Given the description of an element on the screen output the (x, y) to click on. 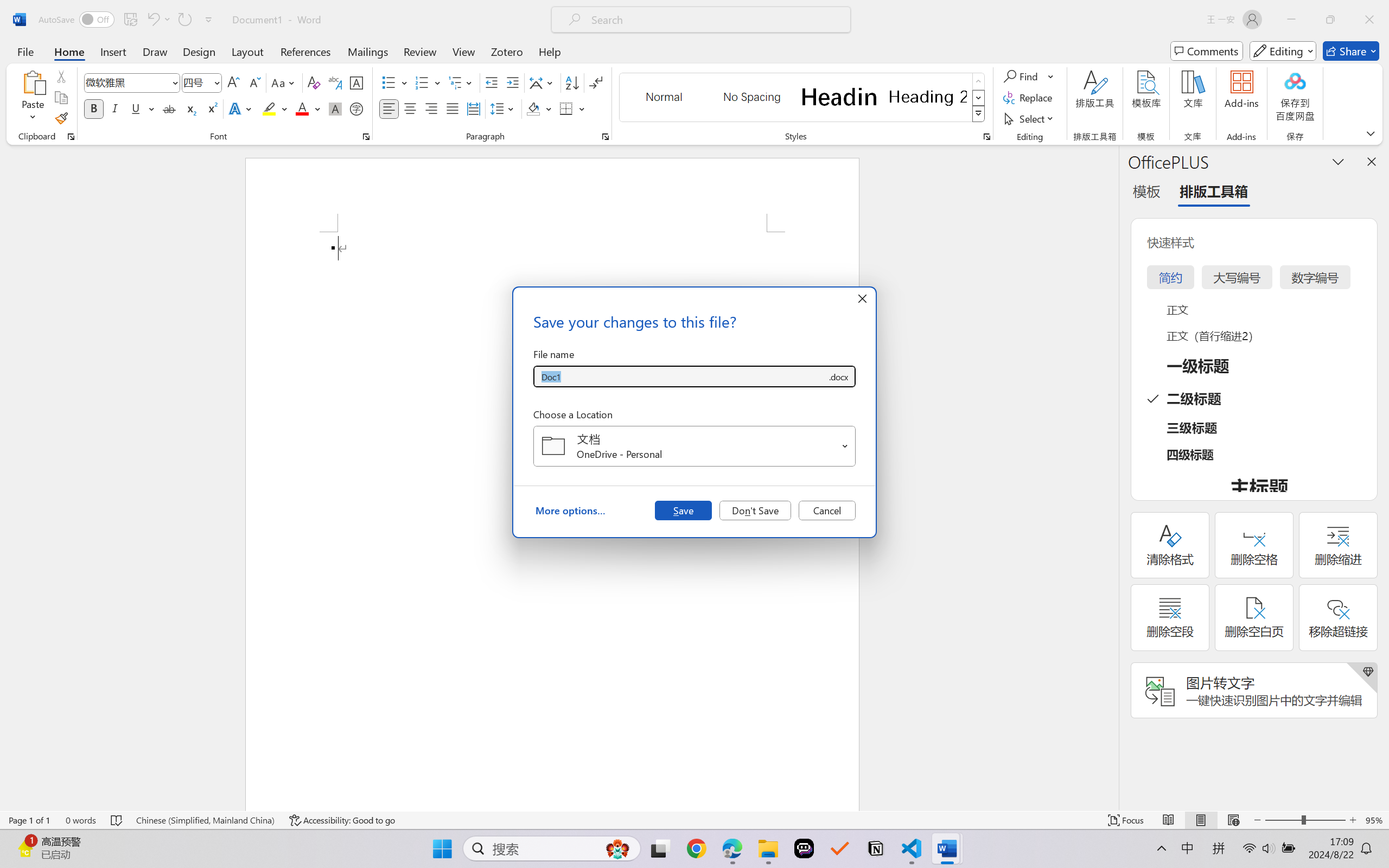
Undo <ApplyStyleToDoc>b__0 (152, 19)
AutomationID: QuickStylesGallery (802, 97)
